Given the description of an element on the screen output the (x, y) to click on. 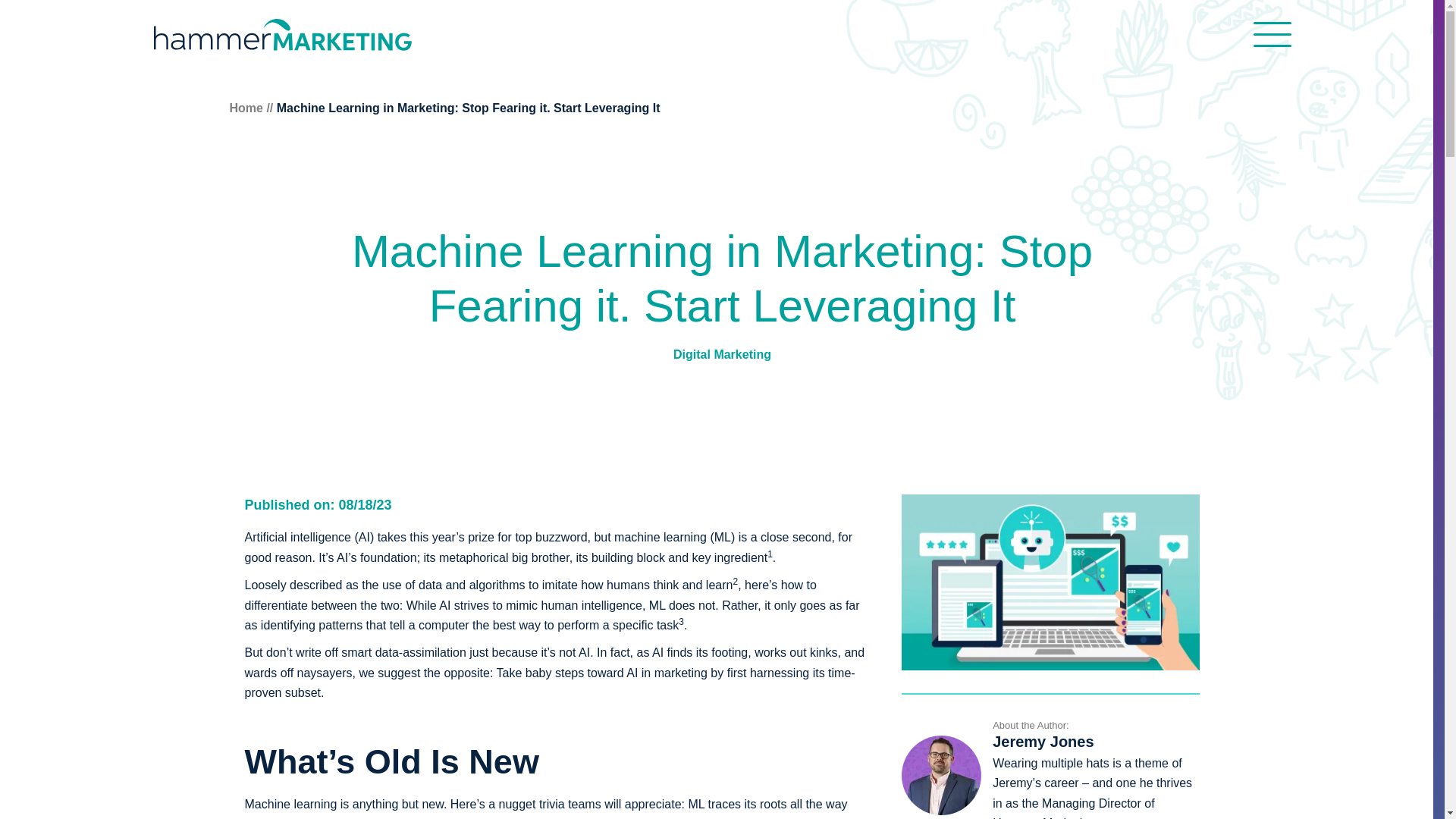
Hammer Marketing (281, 37)
Digital Marketing (721, 354)
Home (245, 107)
Digital Marketing (721, 354)
